Given the description of an element on the screen output the (x, y) to click on. 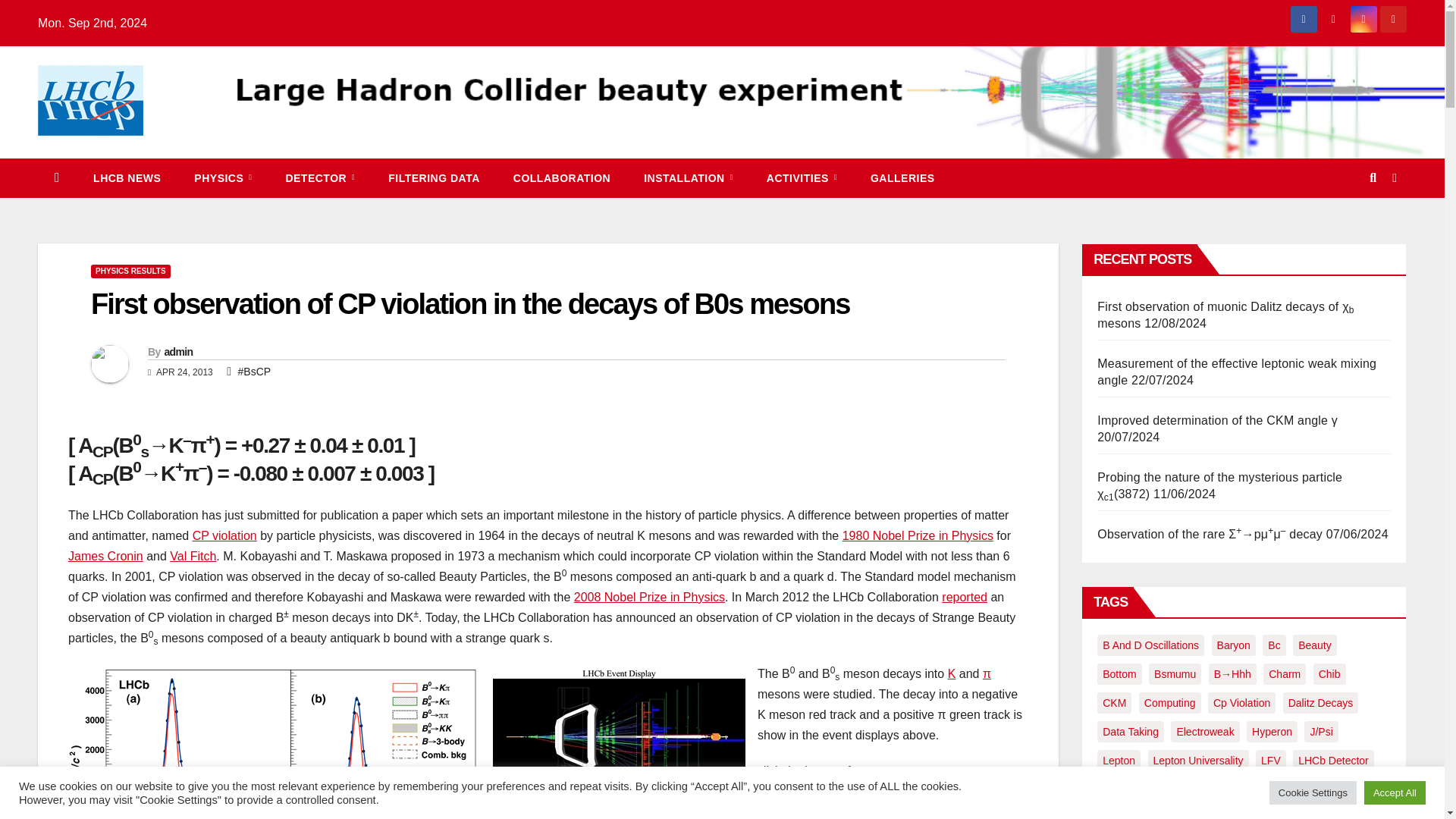
Physics (222, 178)
LHCb news (127, 178)
INSTALLATION (688, 178)
Detector (319, 178)
LHCB NEWS (127, 178)
COLLABORATION (561, 178)
FILTERING DATA (433, 178)
ACTIVITIES (801, 178)
DETECTOR (319, 178)
PHYSICS (222, 178)
